Given the description of an element on the screen output the (x, y) to click on. 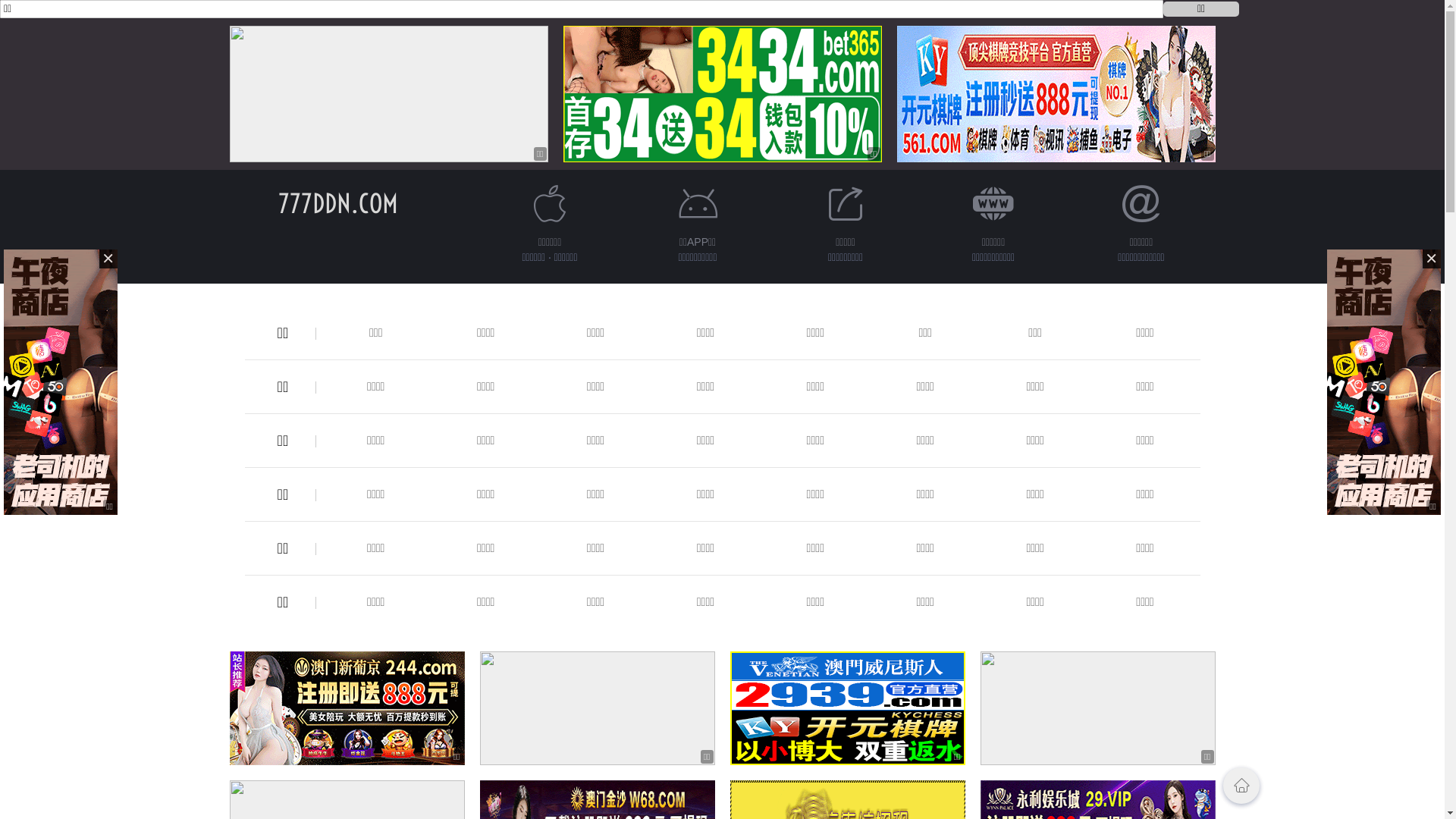
777DDN.COM Element type: text (337, 203)
